Given the description of an element on the screen output the (x, y) to click on. 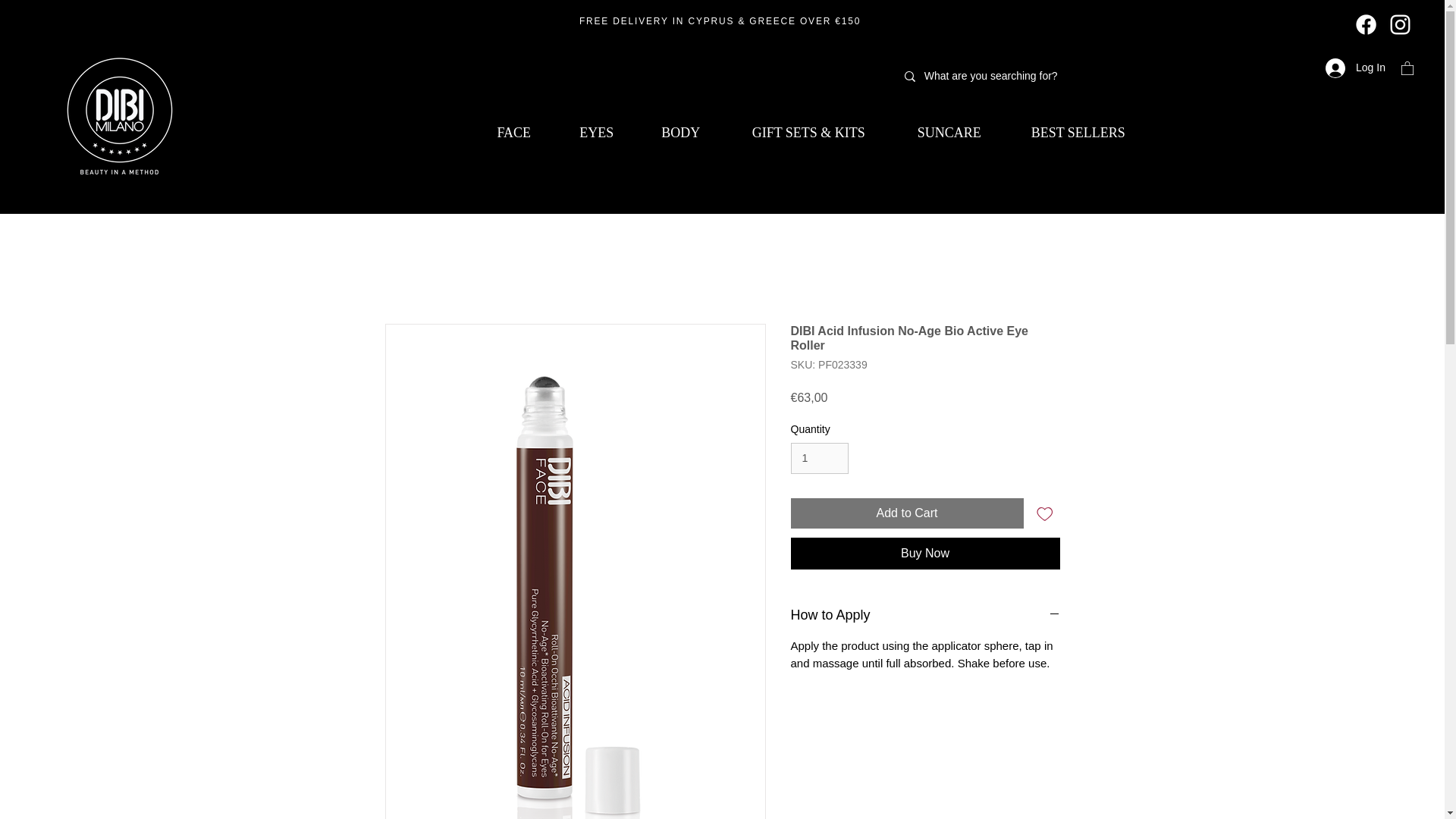
1 (818, 458)
EYES (596, 132)
SUNCARE (949, 132)
Log In (1354, 68)
Add to Cart (906, 512)
BODY (680, 132)
BEST SELLERS (1078, 132)
FACE (513, 132)
Buy Now (924, 553)
How to Apply (924, 615)
